Given the description of an element on the screen output the (x, y) to click on. 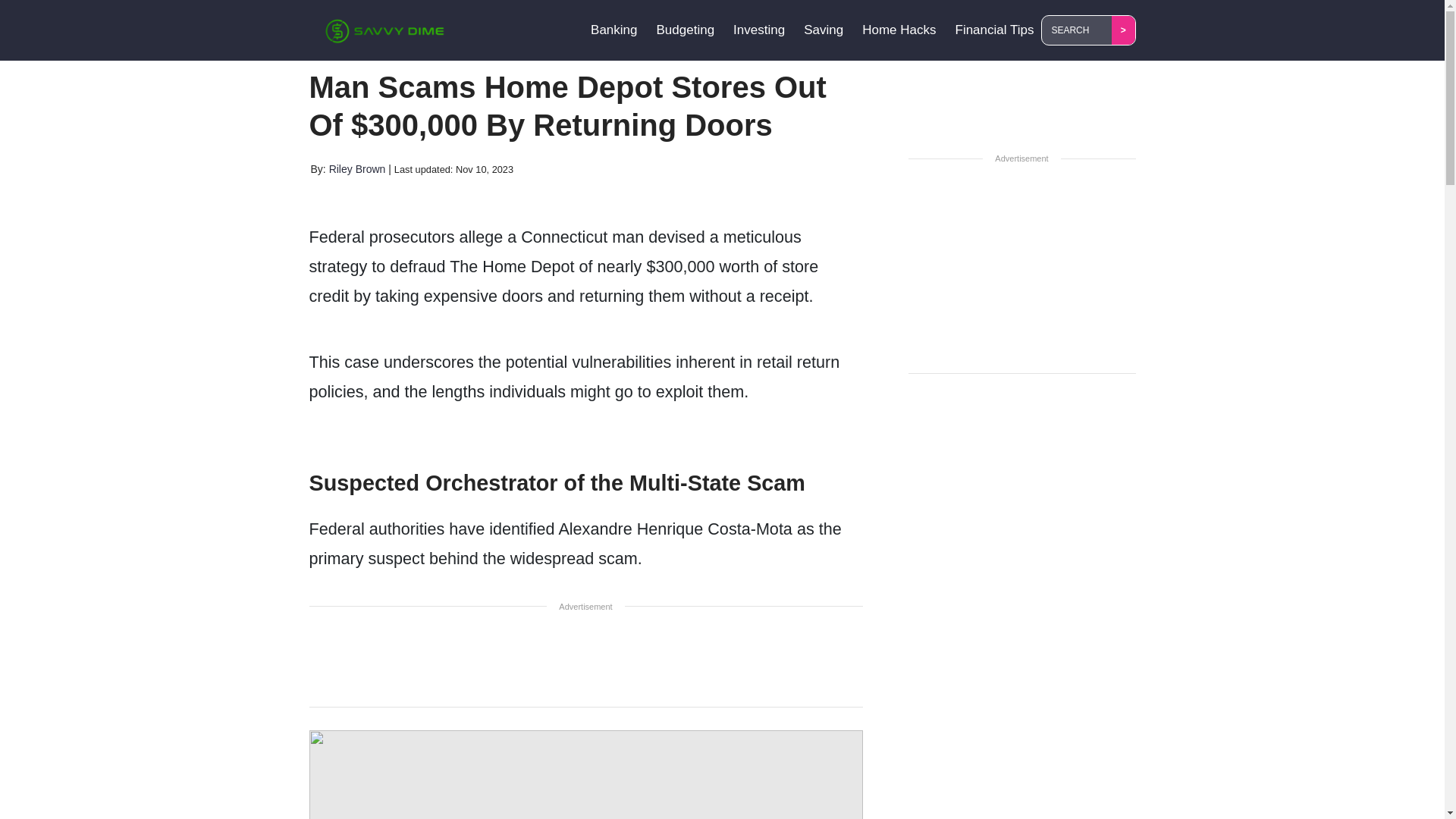
Investing (758, 30)
Search (1079, 30)
Financial Tips (994, 30)
Banking (614, 30)
Riley Brown (357, 168)
Saving (823, 30)
Home Hacks (898, 30)
Budgeting (685, 30)
